Given the description of an element on the screen output the (x, y) to click on. 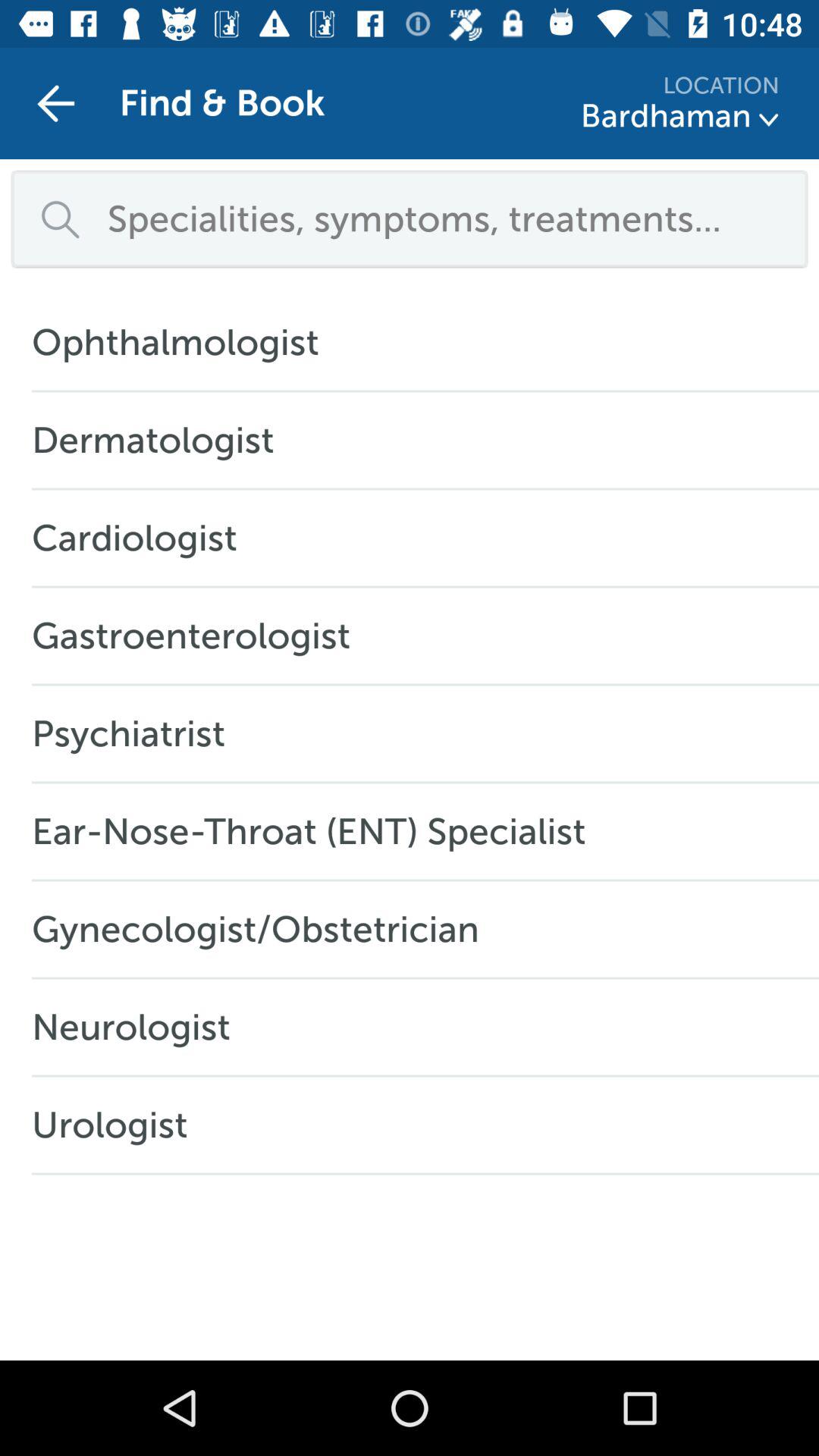
dropdown location selection (769, 119)
